Given the description of an element on the screen output the (x, y) to click on. 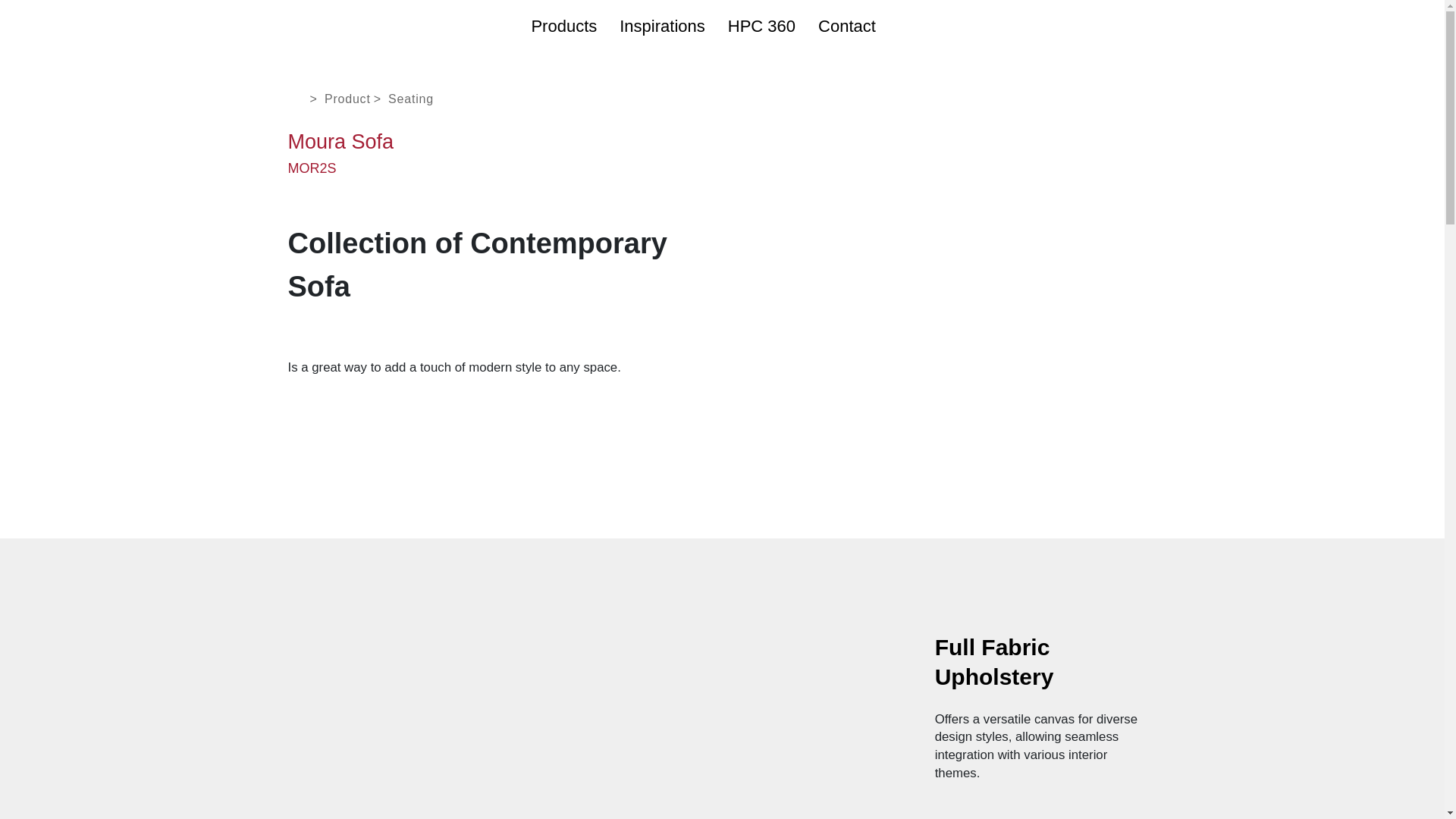
Contact (847, 26)
Inspirations (662, 26)
Seating (410, 98)
Product (347, 98)
HPC 360 (761, 26)
Products (563, 26)
